Given the description of an element on the screen output the (x, y) to click on. 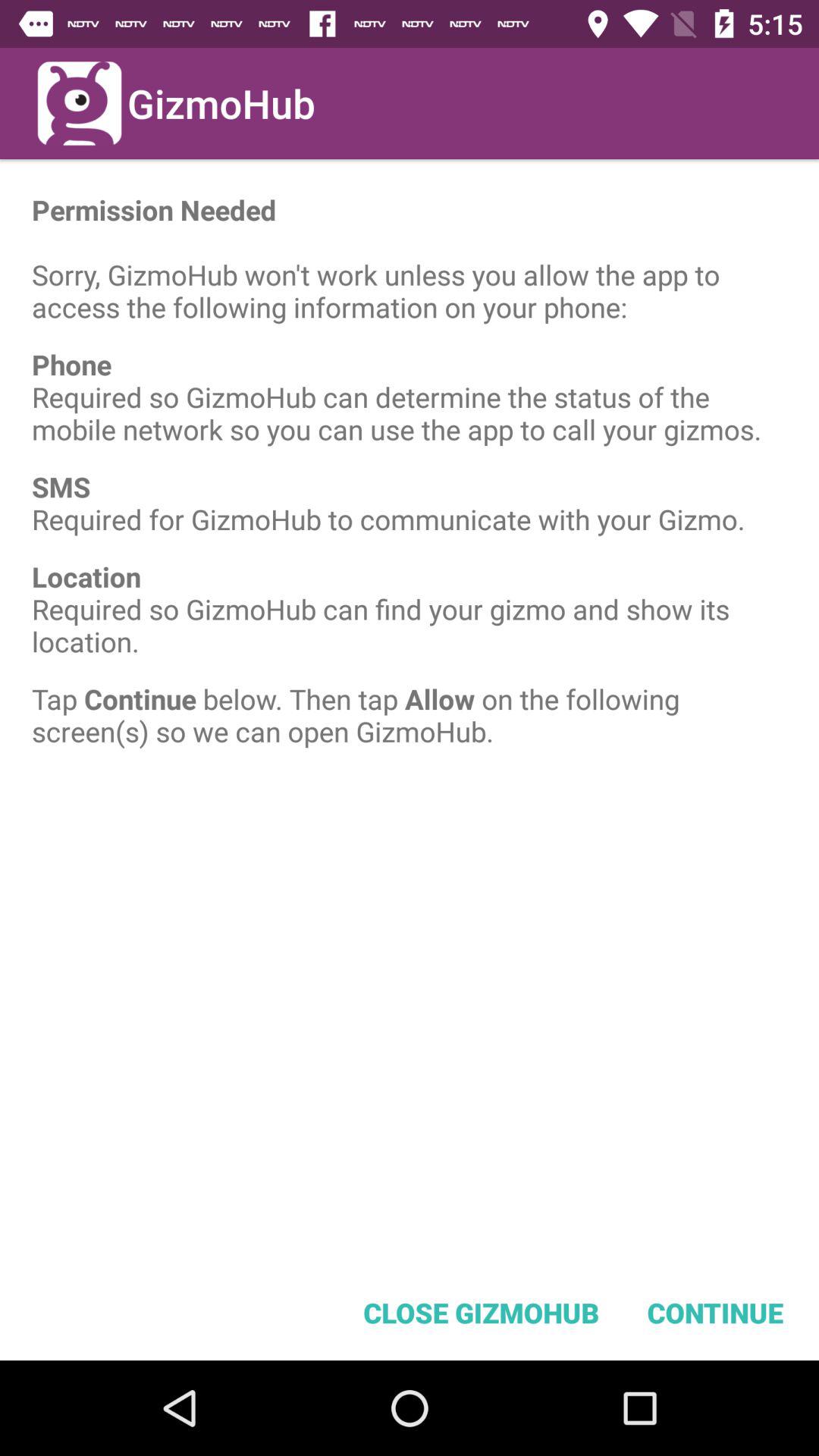
tap icon to the left of continue icon (481, 1312)
